Given the description of an element on the screen output the (x, y) to click on. 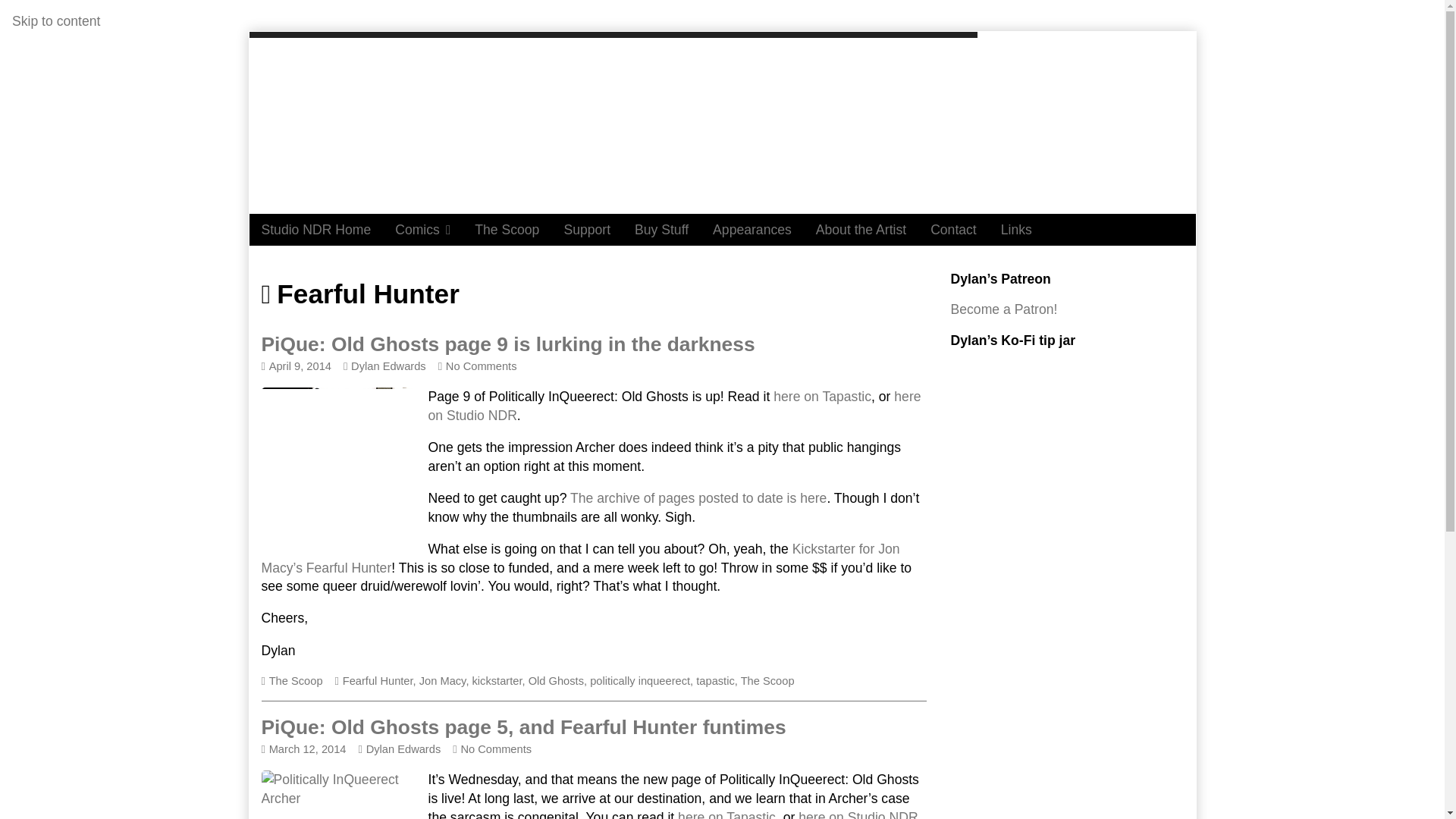
Contact (953, 229)
Old Ghosts (555, 680)
Jon Macy (442, 680)
here on Studio NDR (674, 406)
Links (1015, 229)
The Scoop (507, 229)
tapastic (715, 680)
here on Tapastic (821, 396)
Skip to content (55, 20)
Comics (422, 229)
About the Artist (860, 229)
Buy Stuff (661, 229)
